Given the description of an element on the screen output the (x, y) to click on. 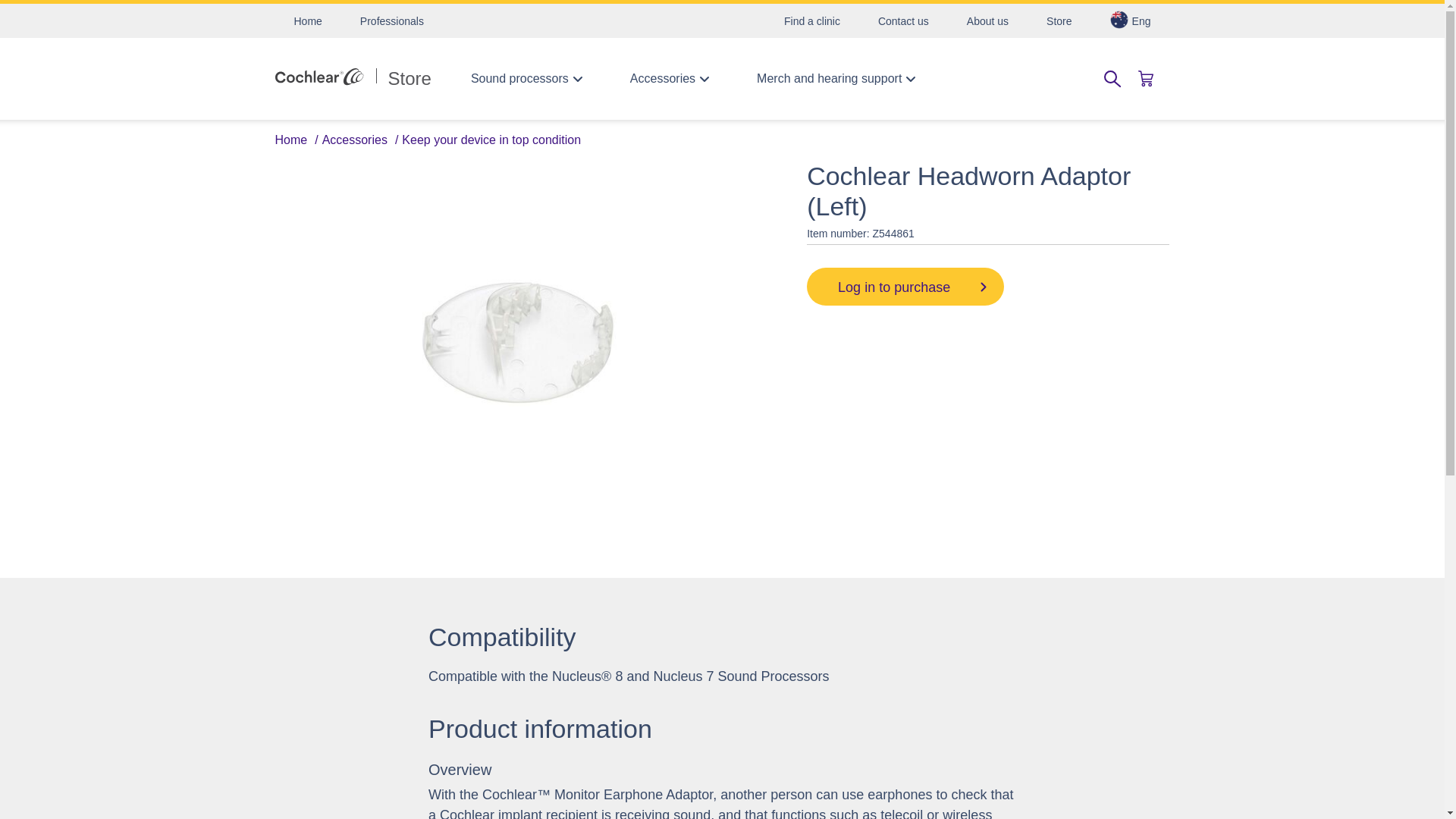
Home (307, 20)
Contact us (903, 20)
Professionals (391, 20)
Cochlear Store home (352, 78)
Store (1058, 20)
Find a clinic (812, 20)
Eng (1130, 20)
Cart 0 Items (1144, 78)
About us (987, 20)
Store (352, 78)
